Given the description of an element on the screen output the (x, y) to click on. 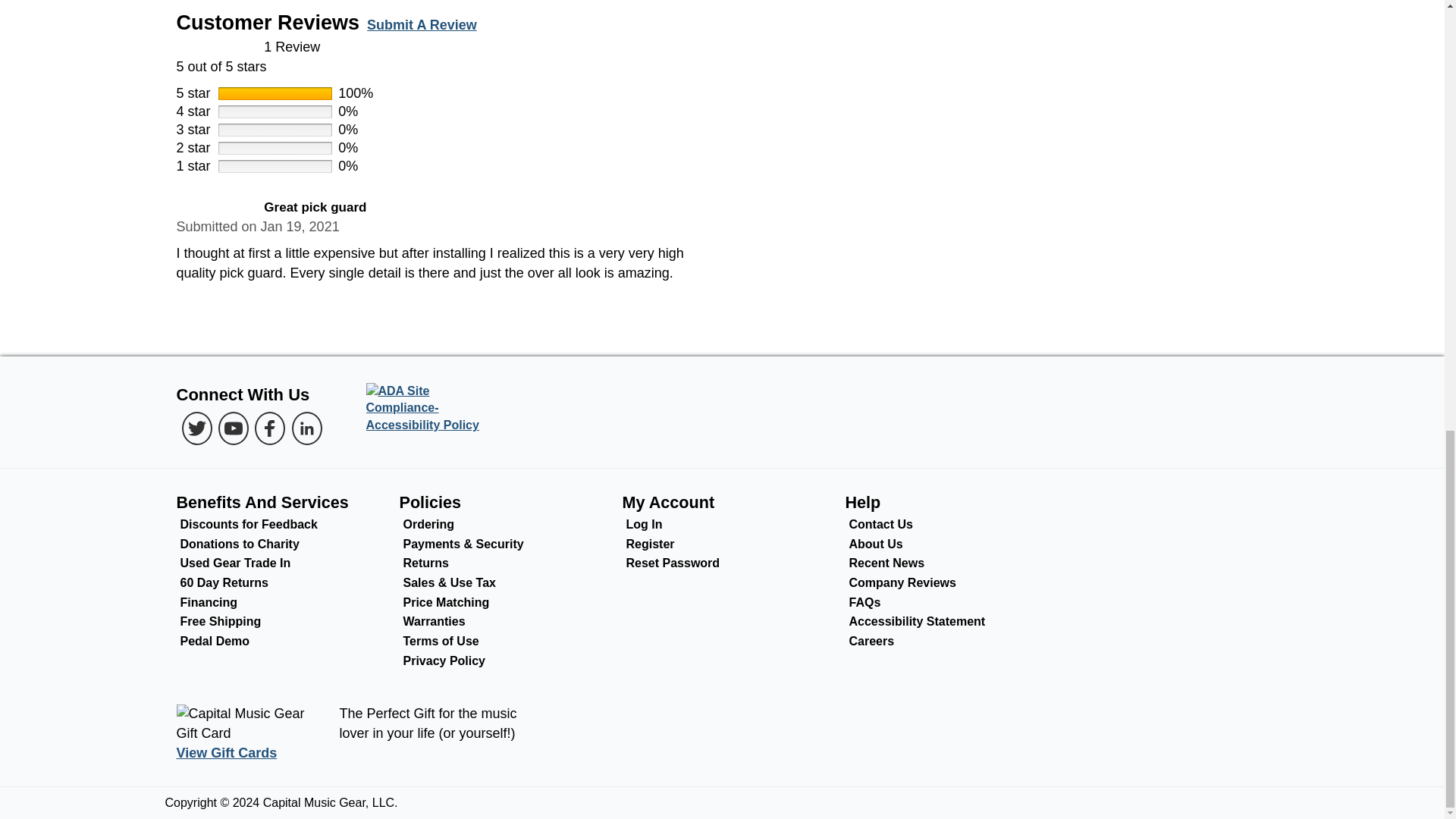
5 out of 5 (722, 56)
5 out of 5 (216, 207)
Our Youtube Page - Opens in new Tab (233, 428)
Our Facebook Page - Opens in new Tab (269, 428)
ADA Site Compliance-Accessibility Policy - Opens in new tab (427, 408)
Our Linkedin Page - Opens in new Tab (306, 428)
Our Twitter Page - Opens in new Tab (197, 428)
